Given the description of an element on the screen output the (x, y) to click on. 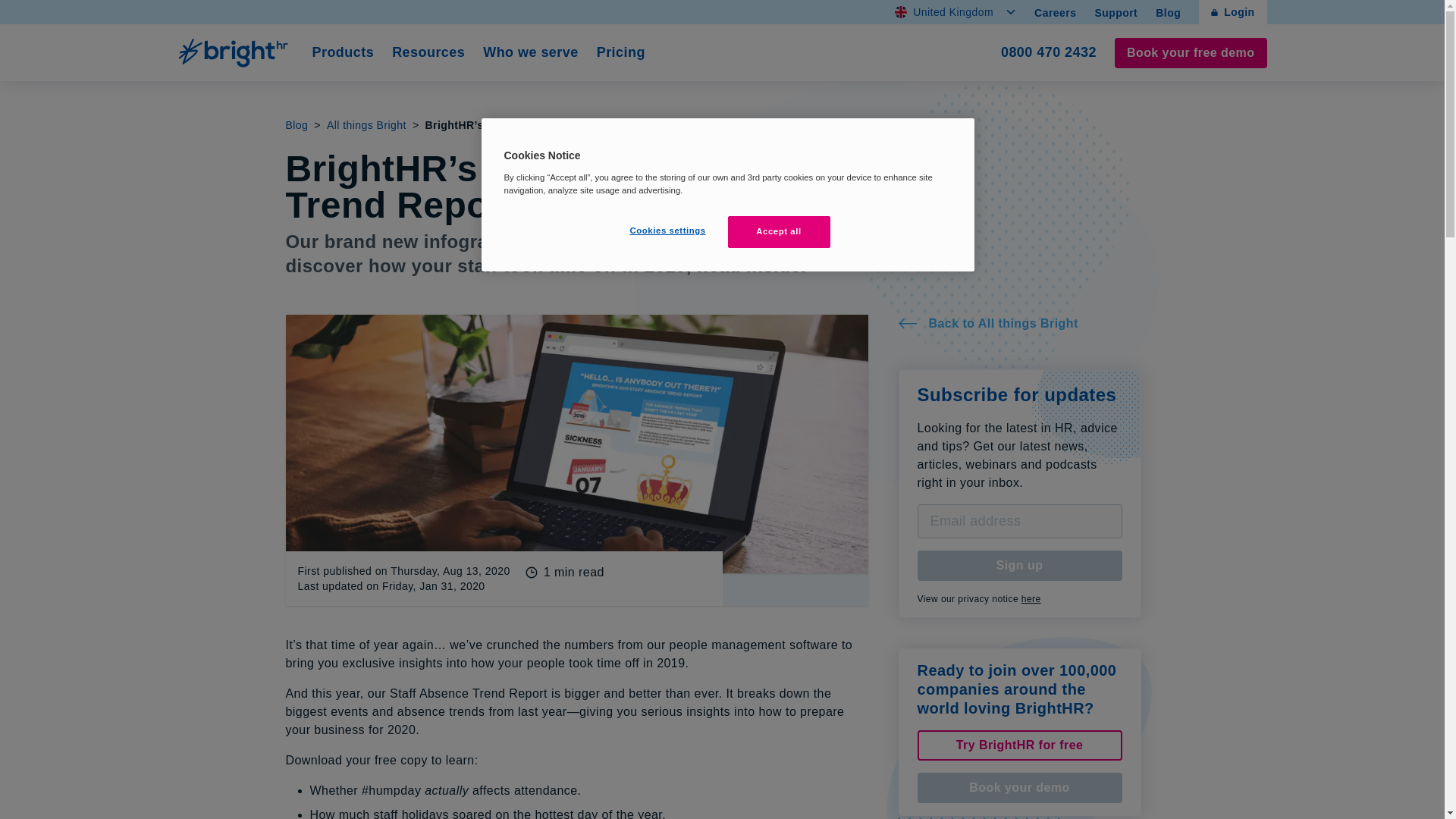
Sign up (1031, 598)
0800 470 2432 (1019, 565)
United Kingdom (1048, 52)
Careers (955, 11)
Pricing (1054, 11)
All things Bright (620, 52)
Login (366, 124)
BrightHR logo (1232, 12)
Blog (235, 51)
Support (1168, 11)
Blog (1115, 11)
Back to All things Bright (296, 124)
Try BrightHR for free (1019, 323)
Book your demo (1019, 745)
